Given the description of an element on the screen output the (x, y) to click on. 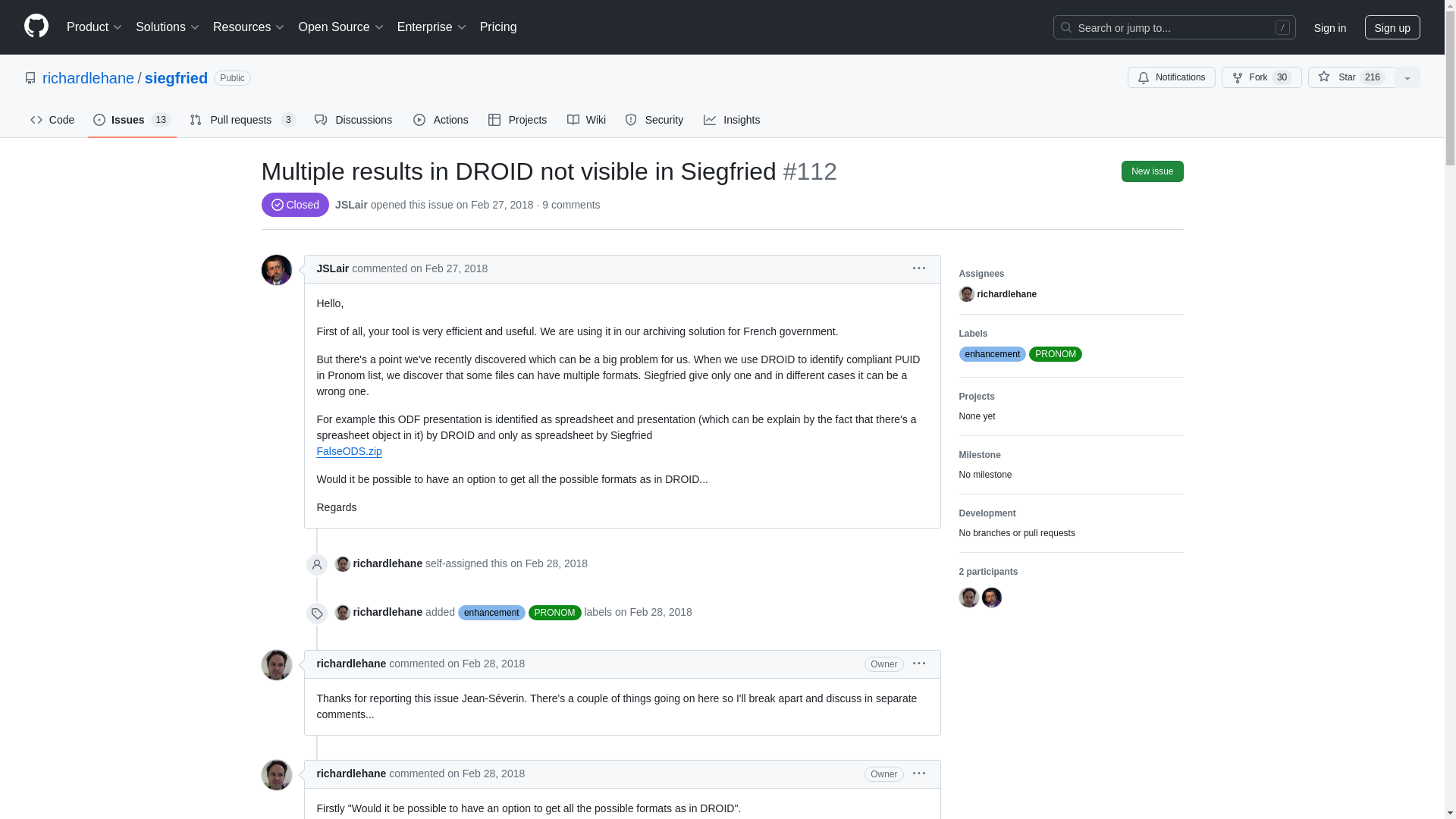
Product (95, 27)
Solutions (167, 27)
Status: Closed (294, 204)
216 (1372, 77)
Open Source (341, 27)
3 (289, 119)
13 (161, 119)
Resources (249, 27)
30 (1281, 77)
